Given the description of an element on the screen output the (x, y) to click on. 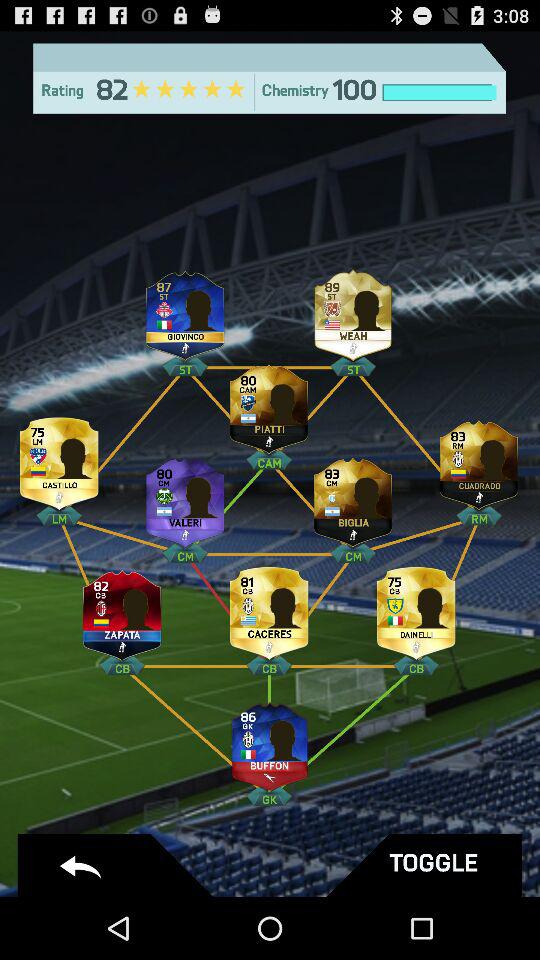
select the player for more details on him (353, 497)
